Given the description of an element on the screen output the (x, y) to click on. 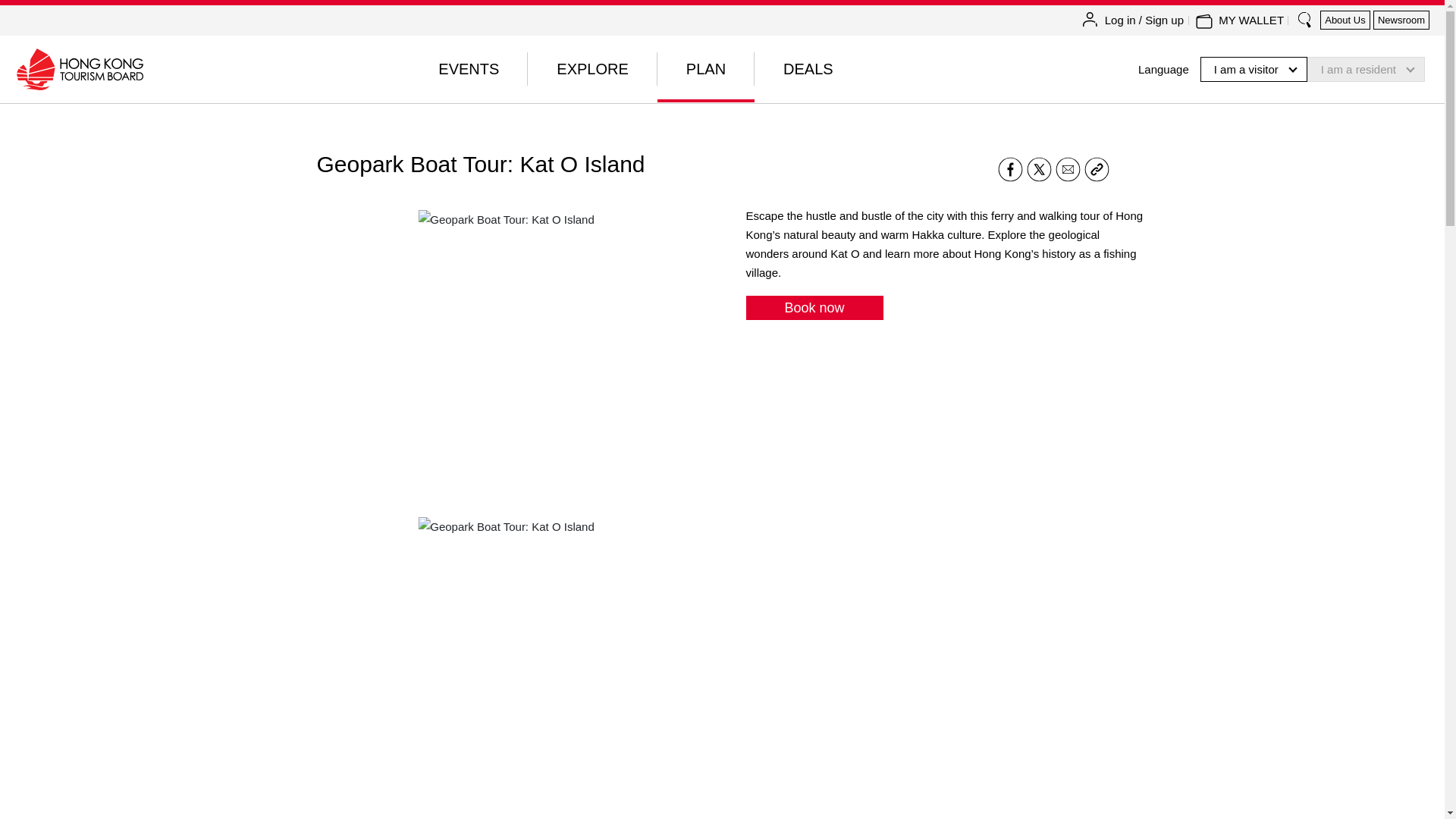
About Us (1345, 19)
MY WALLET (1251, 20)
Hong Kong Tourism Board (79, 68)
EXPLORE (591, 69)
Newsroom (1401, 19)
PLAN (706, 69)
